Given the description of an element on the screen output the (x, y) to click on. 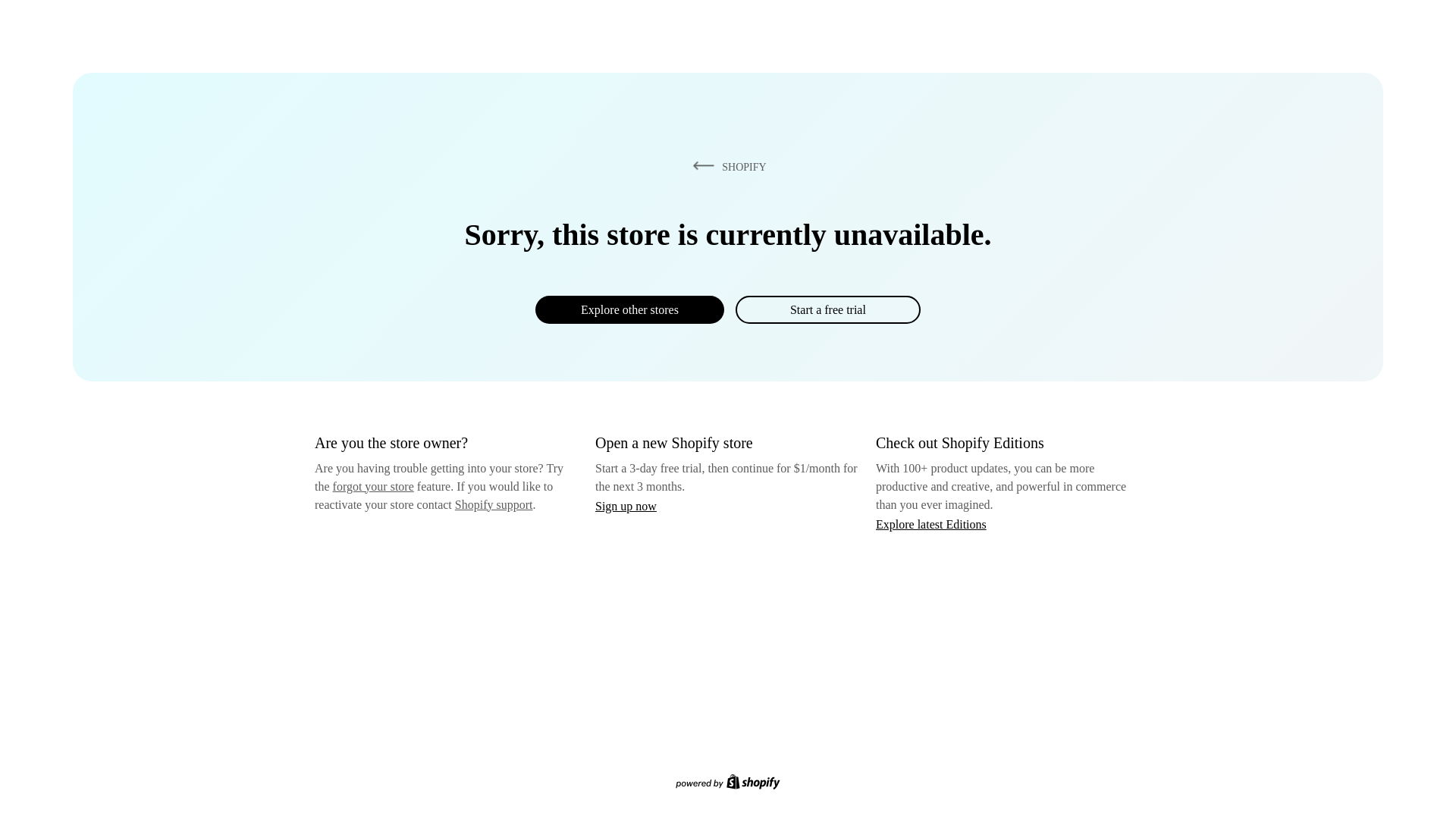
Sign up now (625, 505)
SHOPIFY (726, 166)
Explore latest Editions (931, 523)
forgot your store (373, 486)
Explore other stores (629, 309)
Shopify support (493, 504)
Start a free trial (827, 309)
